Given the description of an element on the screen output the (x, y) to click on. 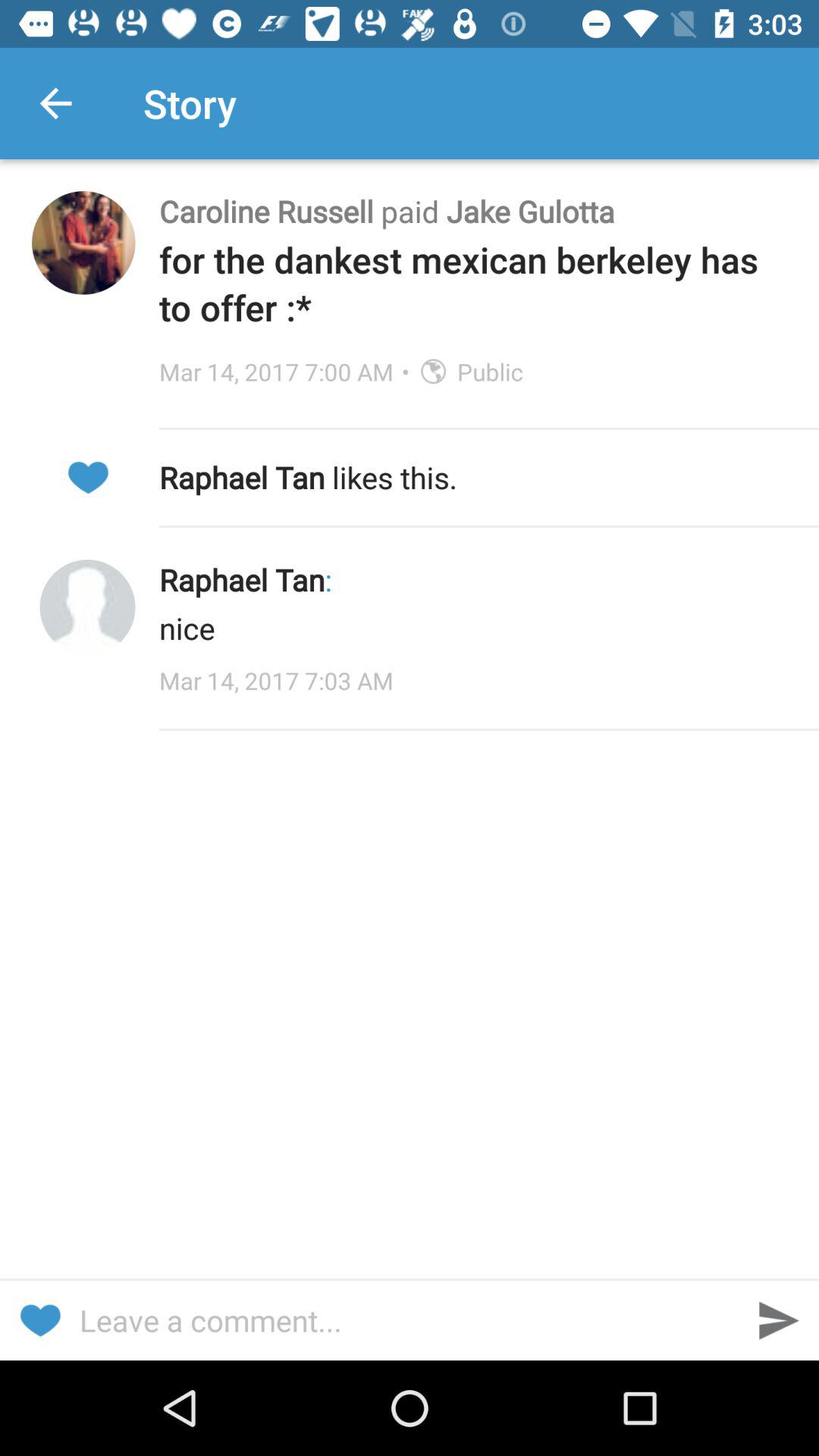
like content (87, 477)
